Given the description of an element on the screen output the (x, y) to click on. 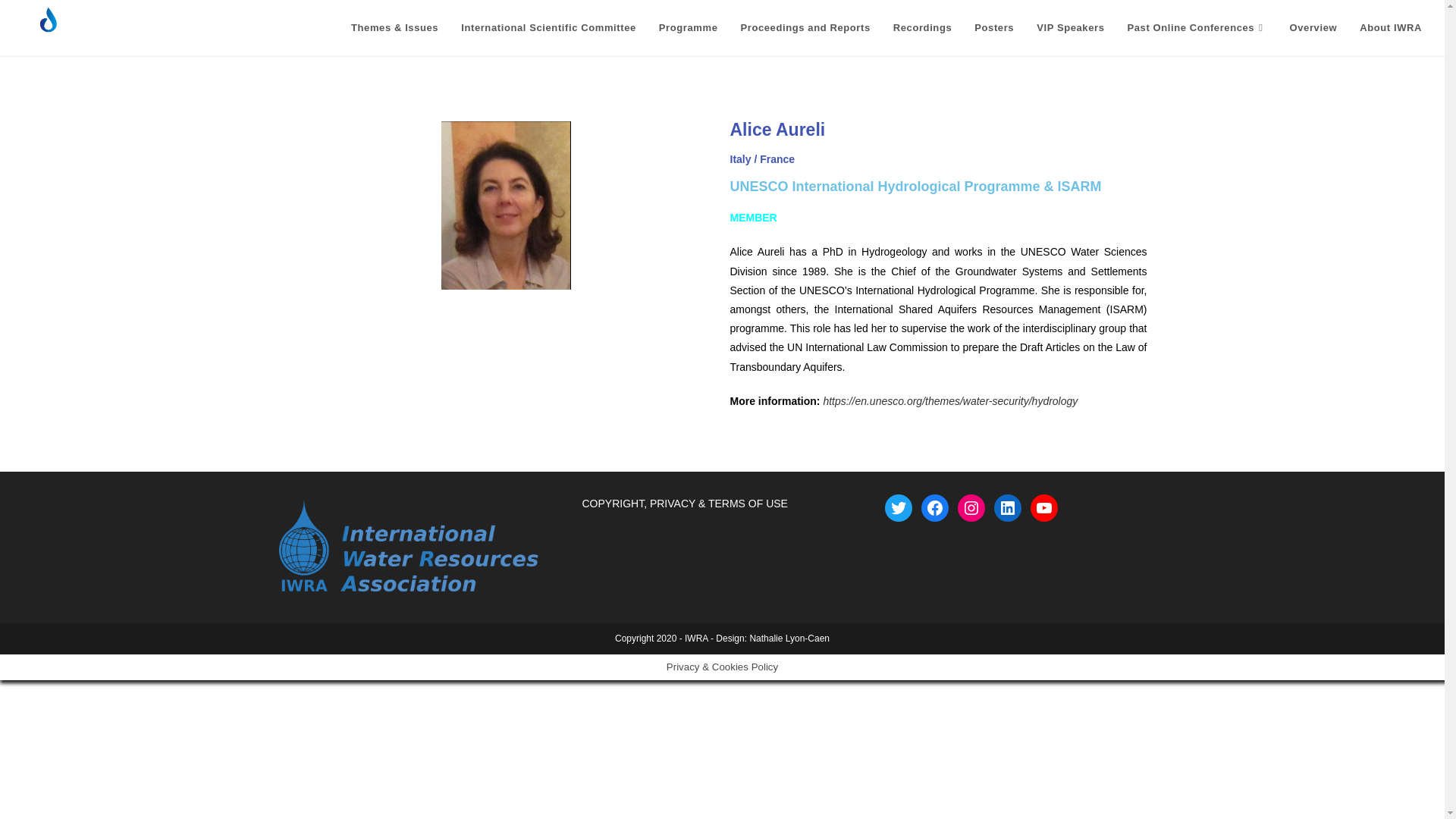
Overview (1313, 28)
Programme (688, 28)
IWRA (695, 638)
hotmail (16, 65)
Recordings (922, 28)
Nathalie Lyon-Caen (789, 638)
Past Online Conferences (1197, 28)
VIP Speakers (1070, 28)
Posters (993, 28)
About IWRA (1390, 28)
